Given the description of an element on the screen output the (x, y) to click on. 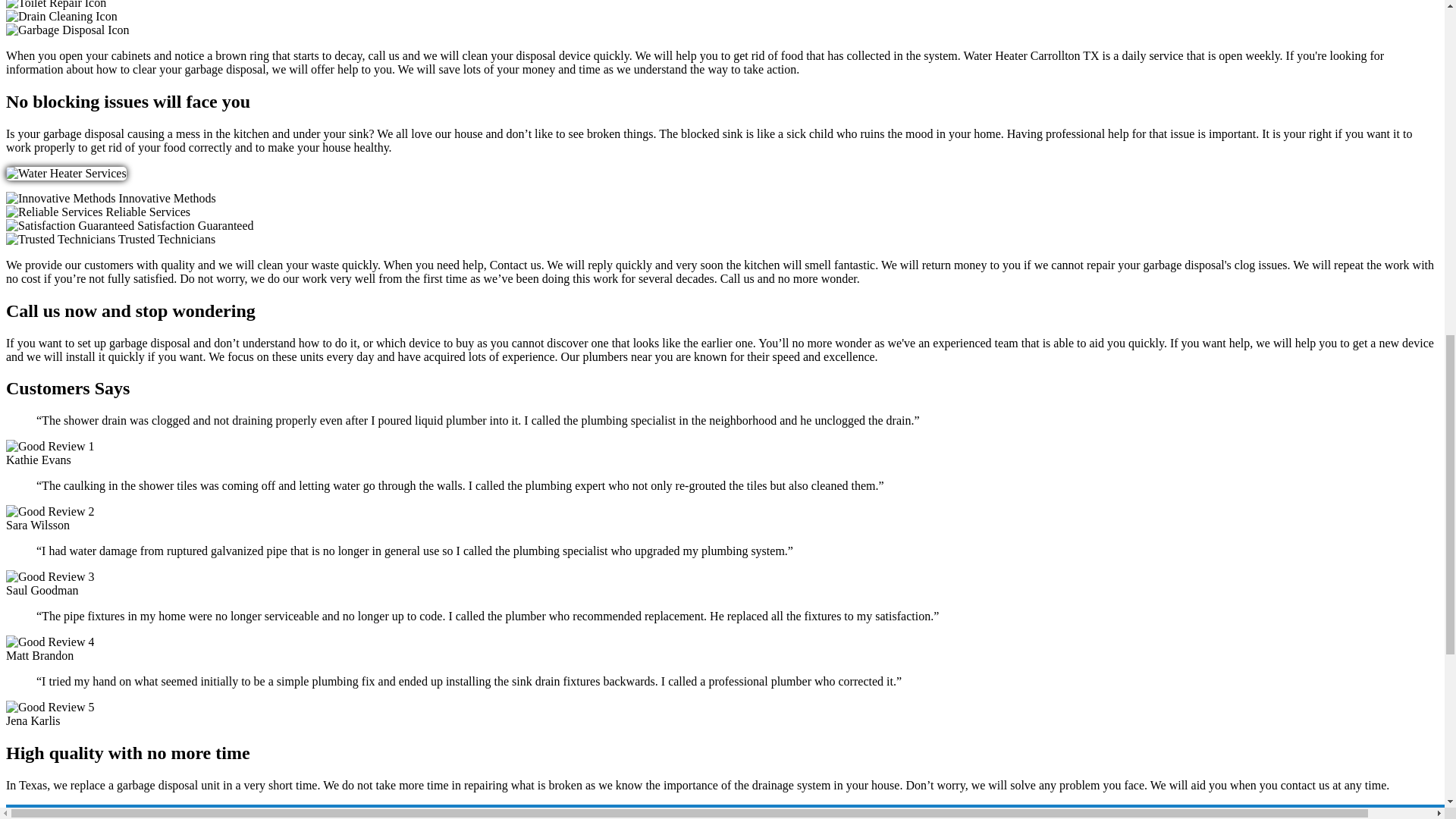
Reliable Services (54, 212)
Innovative Methods (60, 198)
drain leak (61, 16)
Clean Garbage Disposal (67, 29)
toilet water leak (55, 4)
Trusted Technicians (60, 239)
Install Water Heater (65, 173)
Satisfaction Guaranteed (69, 225)
